Given the description of an element on the screen output the (x, y) to click on. 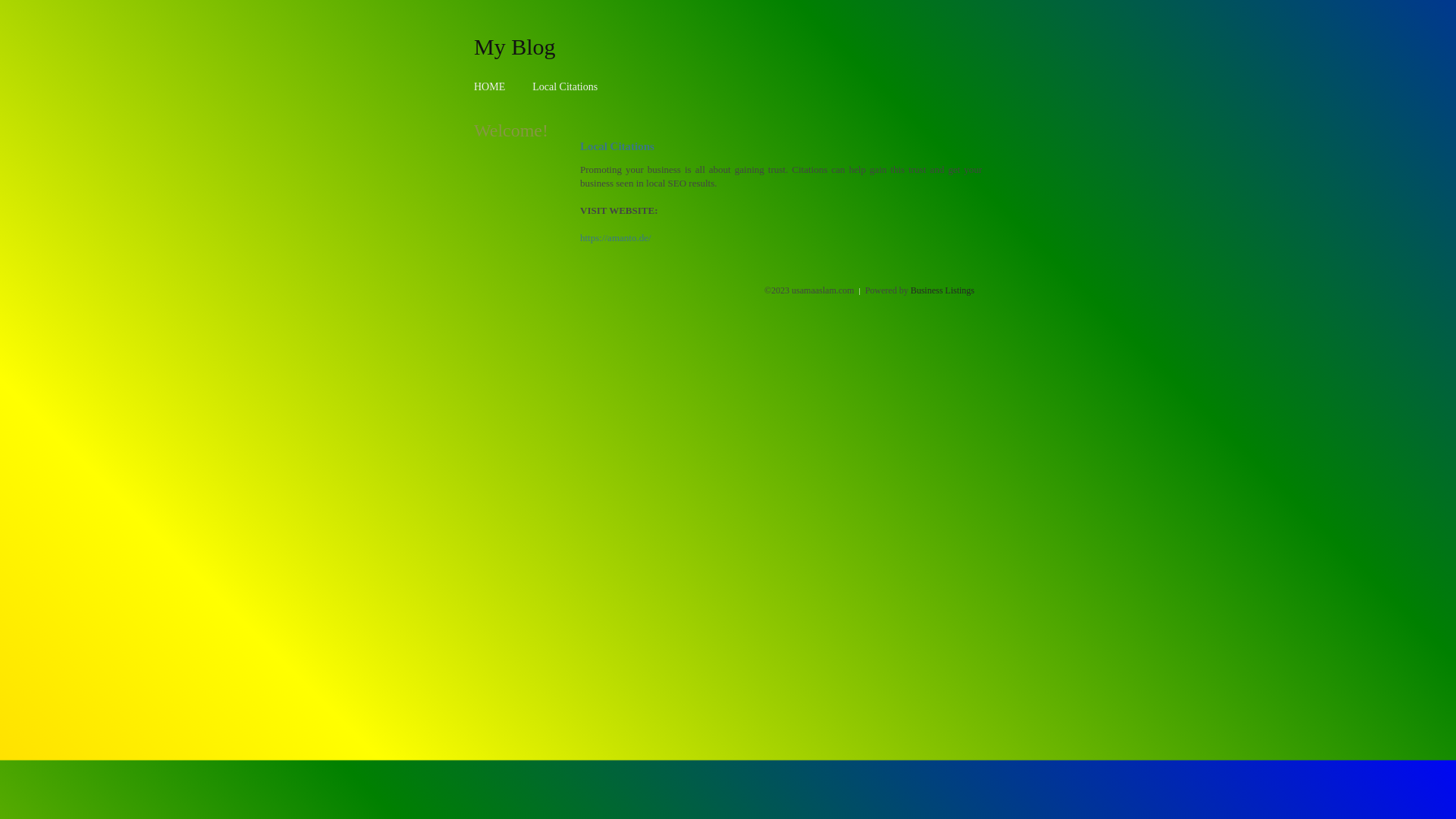
https://amanto.de/ Element type: text (615, 237)
HOME Element type: text (489, 86)
Business Listings Element type: text (942, 290)
Local Citations Element type: text (564, 86)
My Blog Element type: text (514, 46)
